Given the description of an element on the screen output the (x, y) to click on. 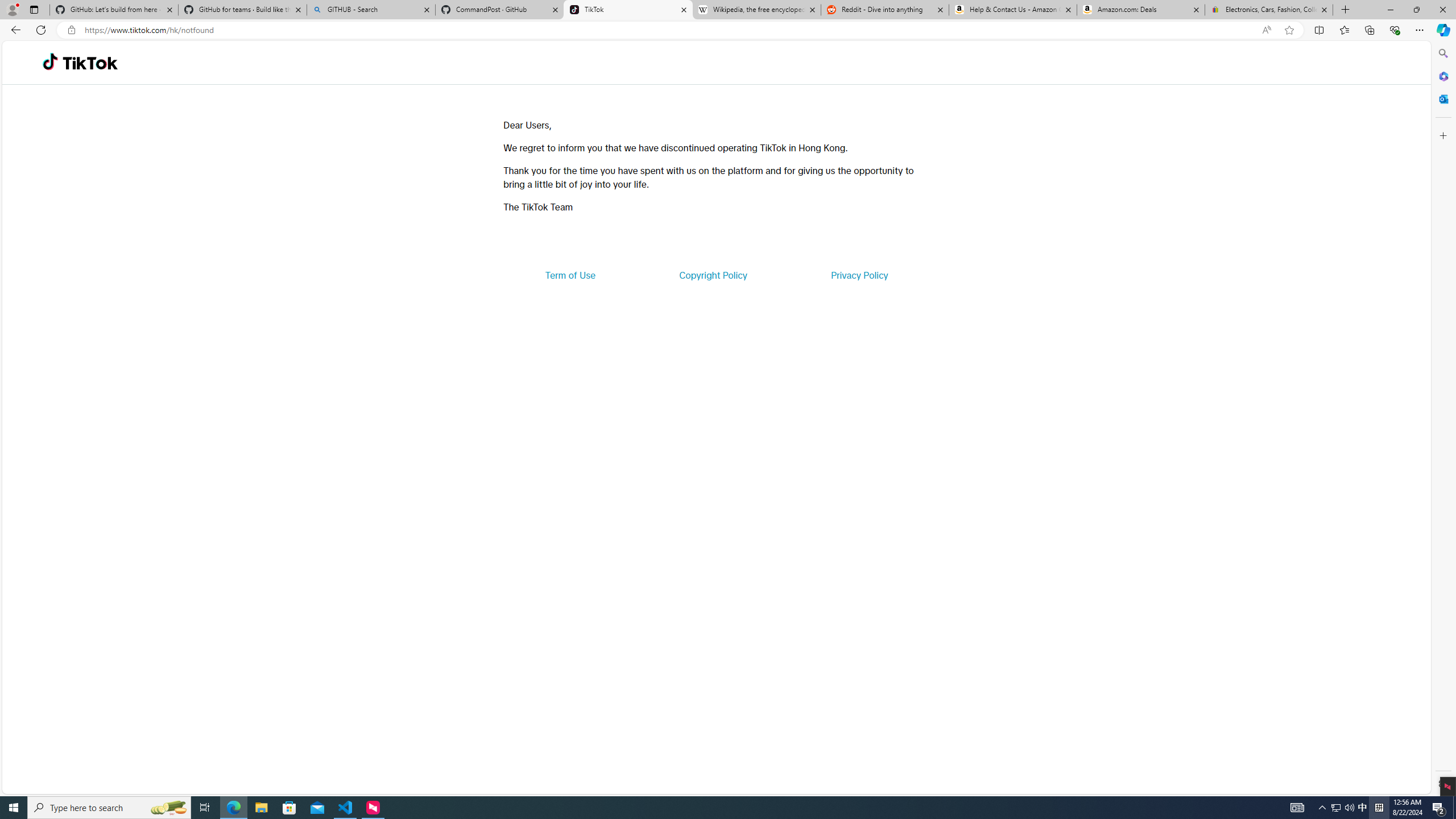
GITHUB - Search (370, 9)
Privacy Policy (858, 274)
Wikipedia, the free encyclopedia (756, 9)
Amazon.com: Deals (1140, 9)
